Given the description of an element on the screen output the (x, y) to click on. 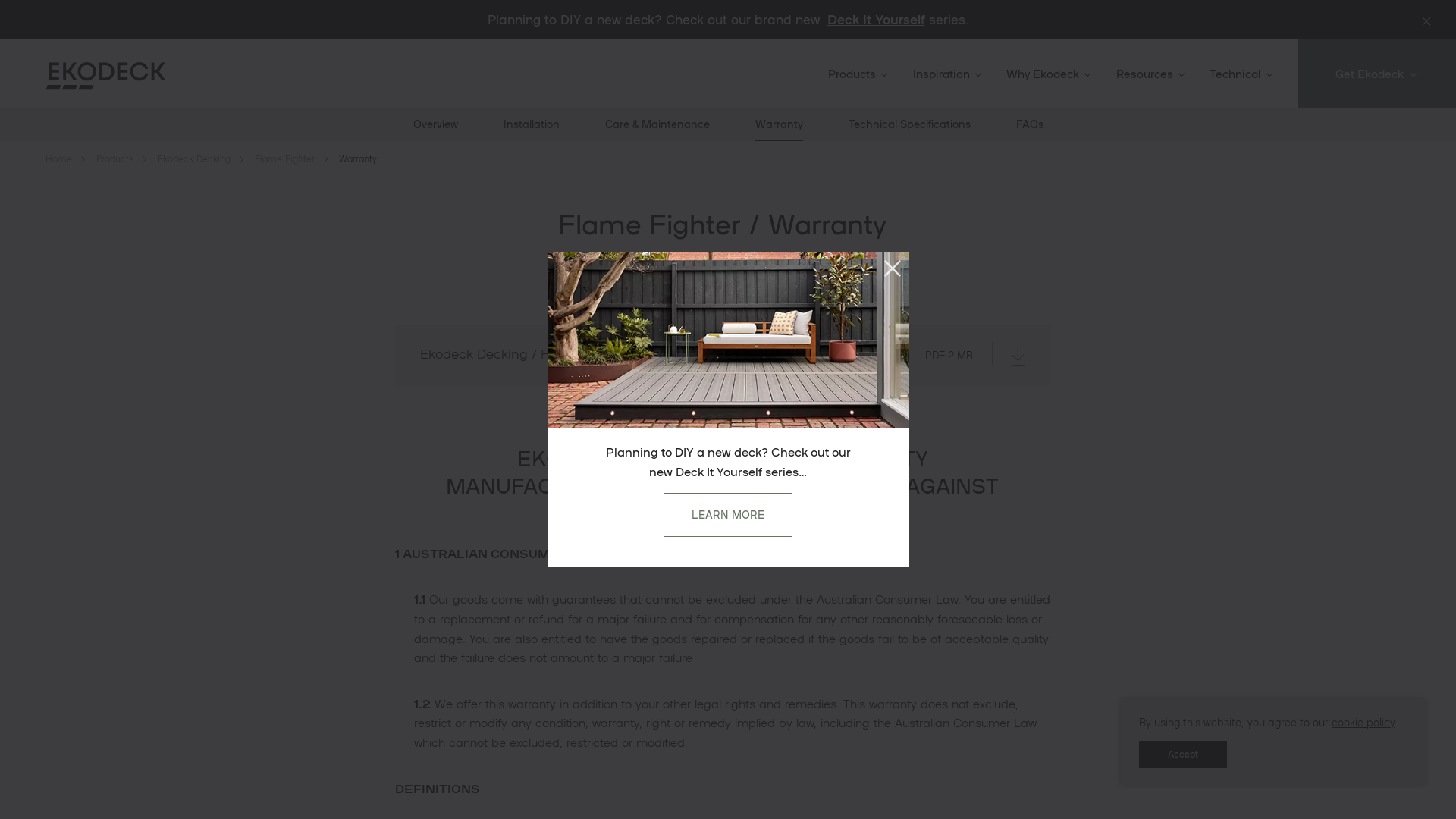
LEARN MORE Element type: text (727, 514)
Why Ekodeck Element type: text (1047, 73)
Flame Fighter Element type: text (284, 159)
Get Ekodeck Element type: text (1375, 73)
Home Element type: text (58, 159)
Technical Element type: text (1240, 73)
Ekodeck Decking Element type: text (193, 159)
Products Element type: text (857, 73)
Installation Element type: text (531, 124)
Close Element type: hover (891, 268)
Accept Element type: text (1182, 754)
Resources Element type: text (1149, 73)
Products Element type: text (114, 159)
Warranty Element type: text (779, 124)
Overview Element type: text (434, 124)
Deck It Yourself Element type: text (875, 19)
Technical Specifications Element type: text (908, 124)
FAQs Element type: text (1029, 124)
Care & Maintenance Element type: text (657, 124)
cookie policy Element type: text (1363, 721)
Inspiration Element type: text (946, 73)
